Given the description of an element on the screen output the (x, y) to click on. 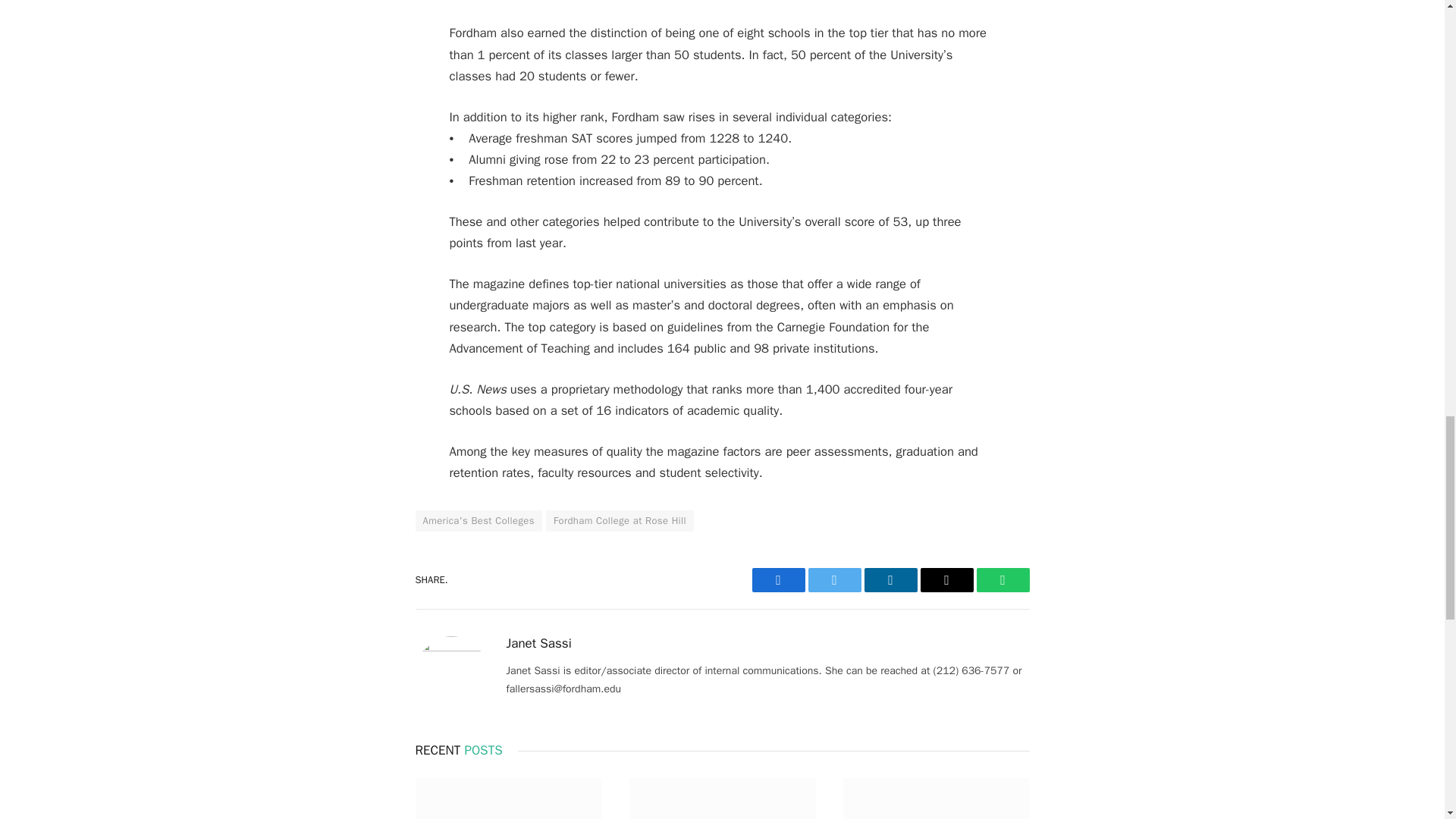
Share on LinkedIn (890, 580)
America's Best Colleges (477, 520)
Share on Facebook (778, 580)
Share via Email (947, 580)
Share on WhatsApp (1002, 580)
Bridging Art and Entrepreneurship (721, 798)
Fordham College at Rose Hill (620, 520)
Why Are Fewer Men Becoming Priests? (508, 798)
Posts by Janet Sassi (539, 643)
